Given the description of an element on the screen output the (x, y) to click on. 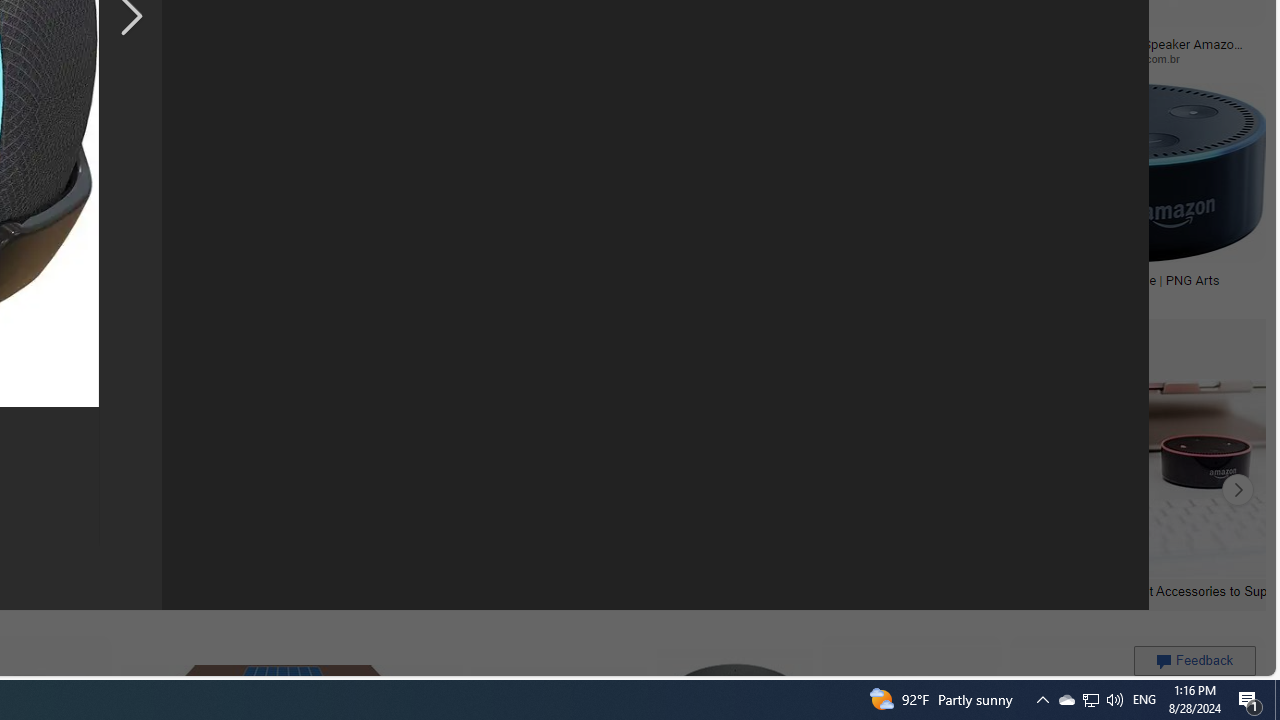
Best Amazon Echo Dot Accessories for 2024 (437, 589)
pnghq.com (836, 295)
winmaec.com (740, 58)
energyearth.com (116, 295)
currys.co.uk (559, 294)
inpower.com.br (1149, 57)
amazon.com.mx (484, 57)
Image result for Amazon Echo Dot PNG (1122, 172)
